Given the description of an element on the screen output the (x, y) to click on. 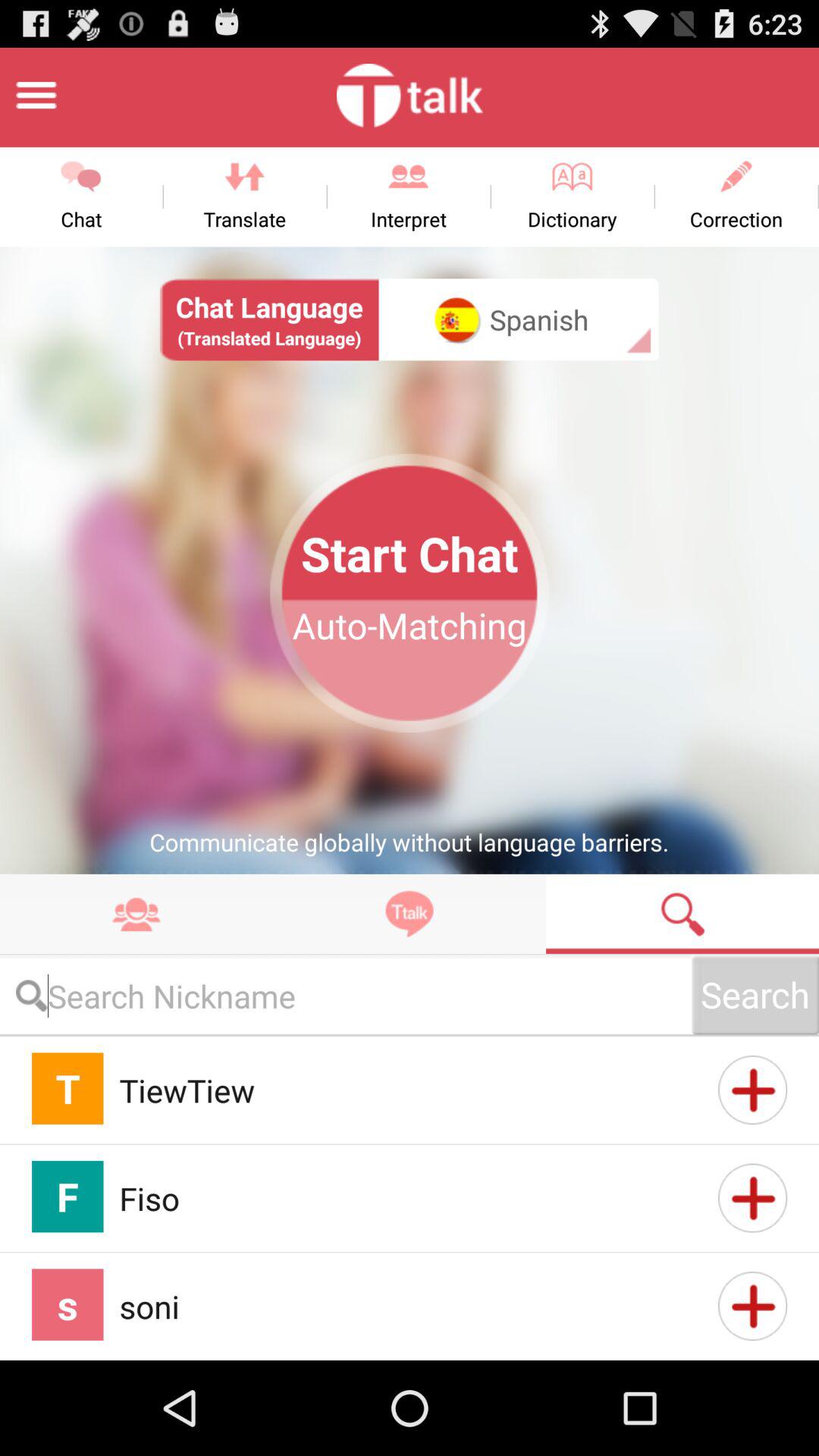
click the contact list (136, 913)
